Given the description of an element on the screen output the (x, y) to click on. 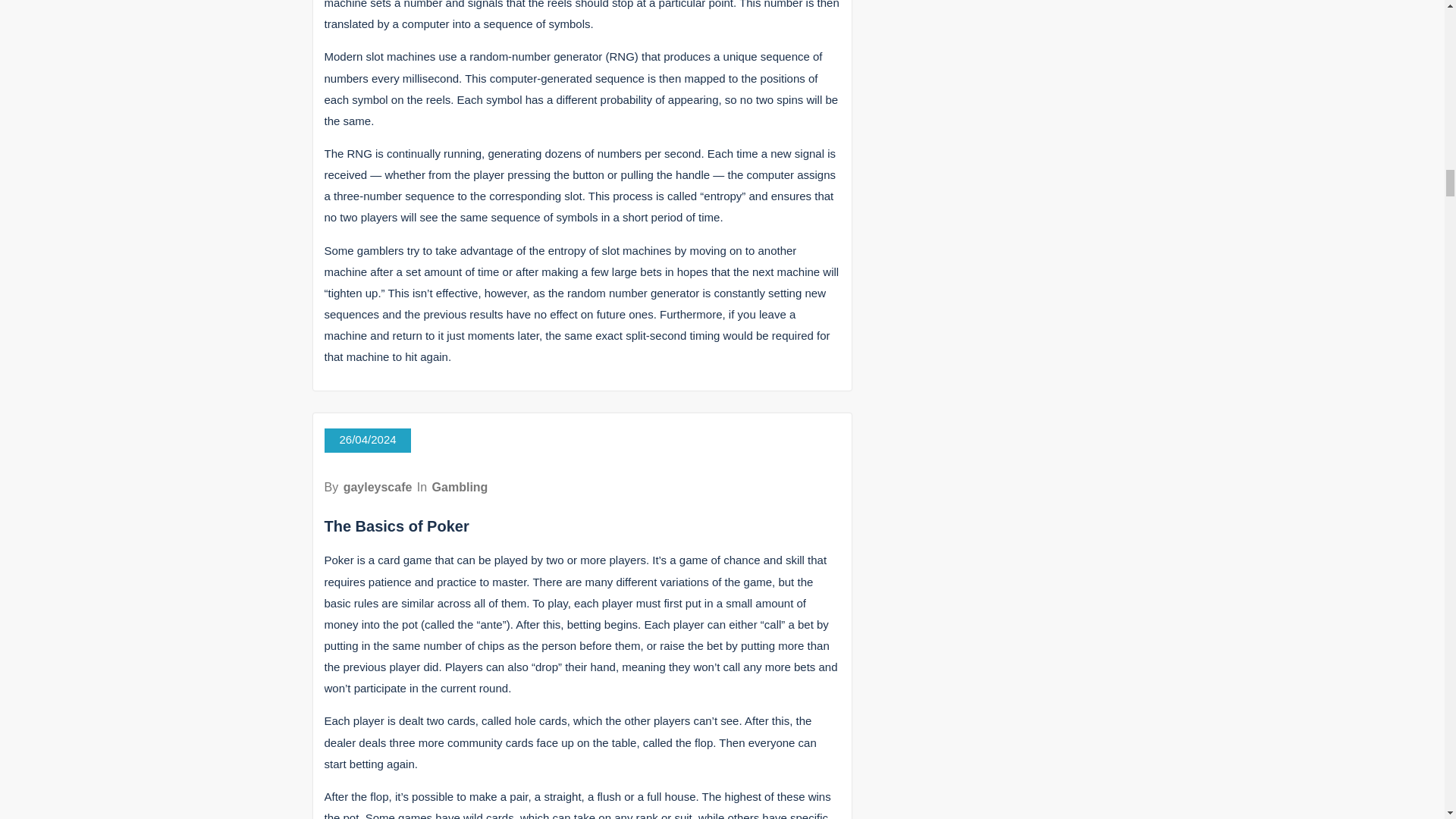
gayleyscafe (377, 486)
The Basics of Poker (396, 525)
Gambling (459, 486)
